Given the description of an element on the screen output the (x, y) to click on. 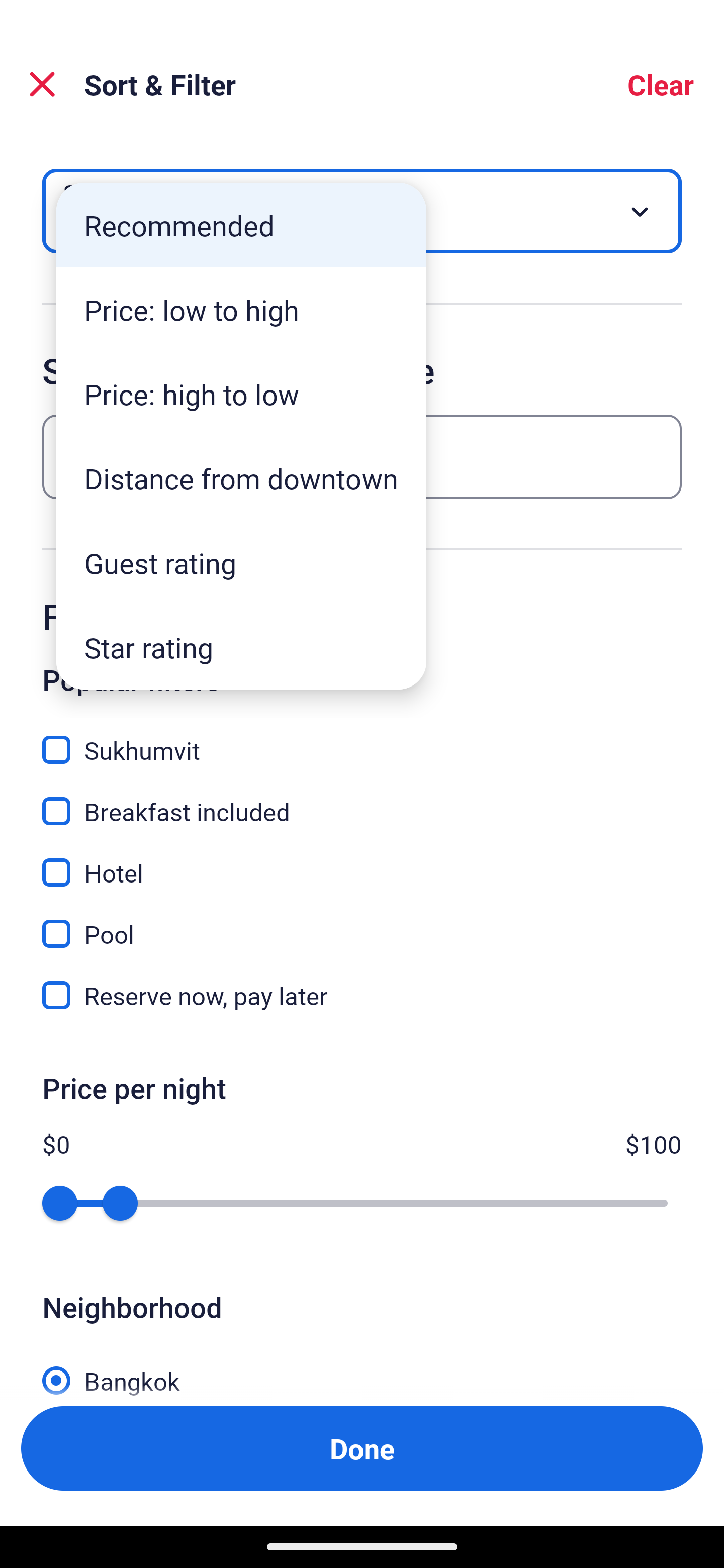
Price: low to high (241, 309)
Price: high to low (241, 393)
Distance from downtown (241, 477)
Guest rating (241, 562)
Star rating (241, 647)
